Given the description of an element on the screen output the (x, y) to click on. 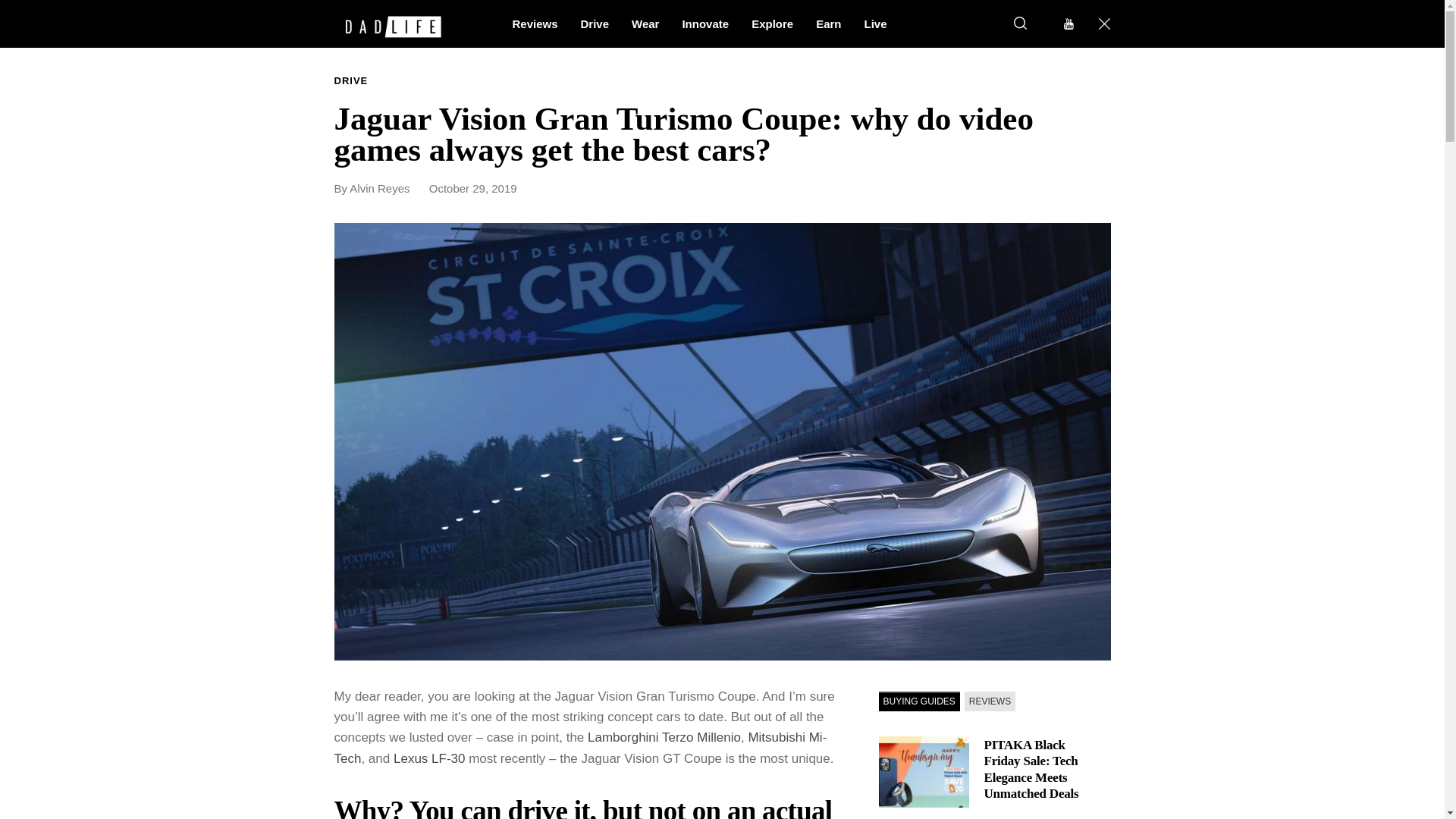
Reviews (534, 22)
DRIVE (350, 81)
BUYING GUIDES (918, 700)
Lexus LF-30 (429, 758)
REVIEWS (988, 700)
Explore (772, 22)
Earn (828, 22)
Lamborghini Terzo Millenio (664, 737)
Wear (644, 22)
Drive (594, 22)
